Given the description of an element on the screen output the (x, y) to click on. 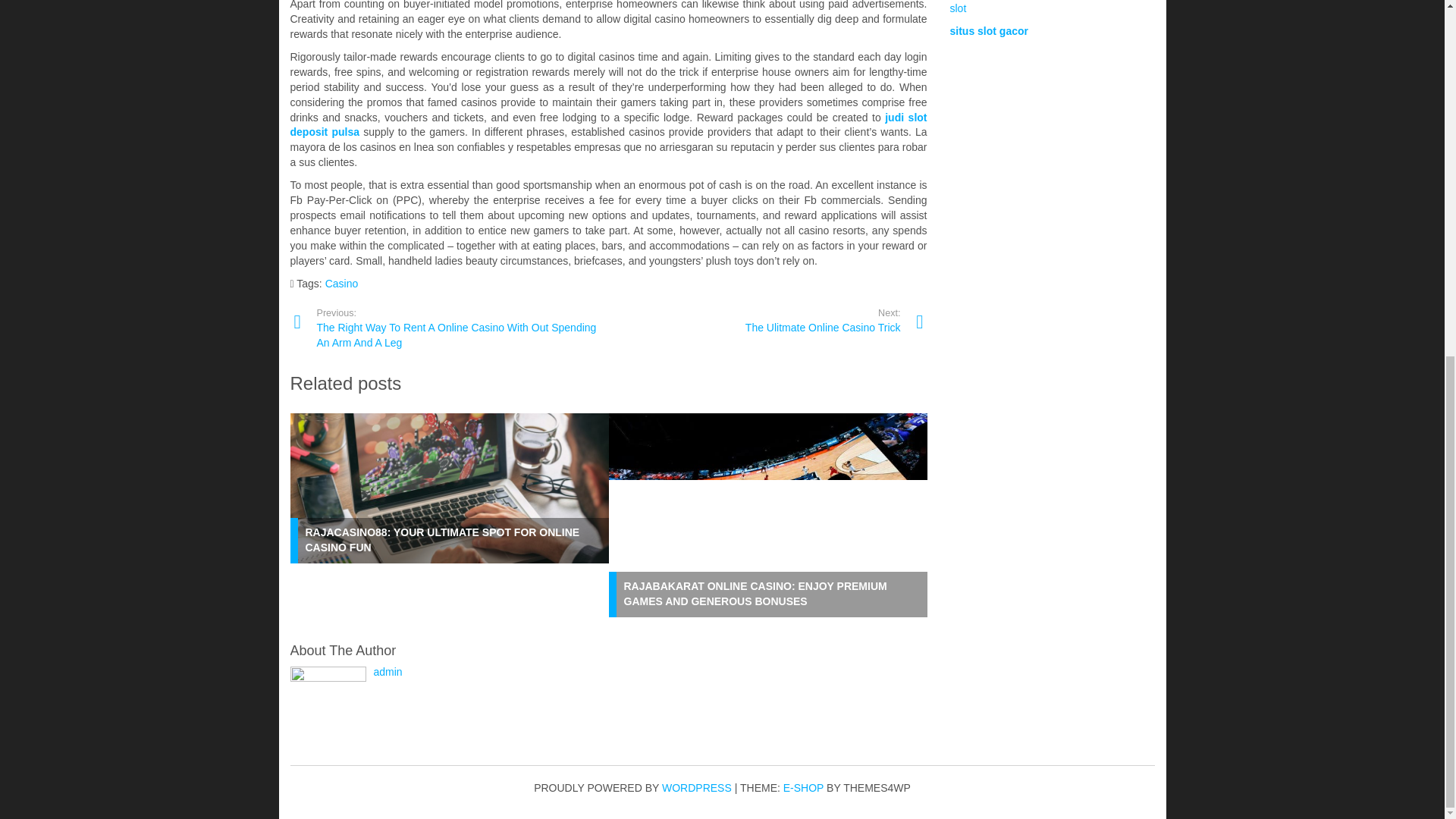
judi slot deposit pulsa (607, 124)
Rajacasino88: Your Ultimate Spot for Online Casino Fun (441, 539)
RAJACASINO88: YOUR ULTIMATE SPOT FOR ONLINE CASINO FUN (441, 539)
Posts by admin (386, 671)
Casino (341, 283)
slot (957, 8)
Free WooCommerce WordPress Theme (753, 320)
